Given the description of an element on the screen output the (x, y) to click on. 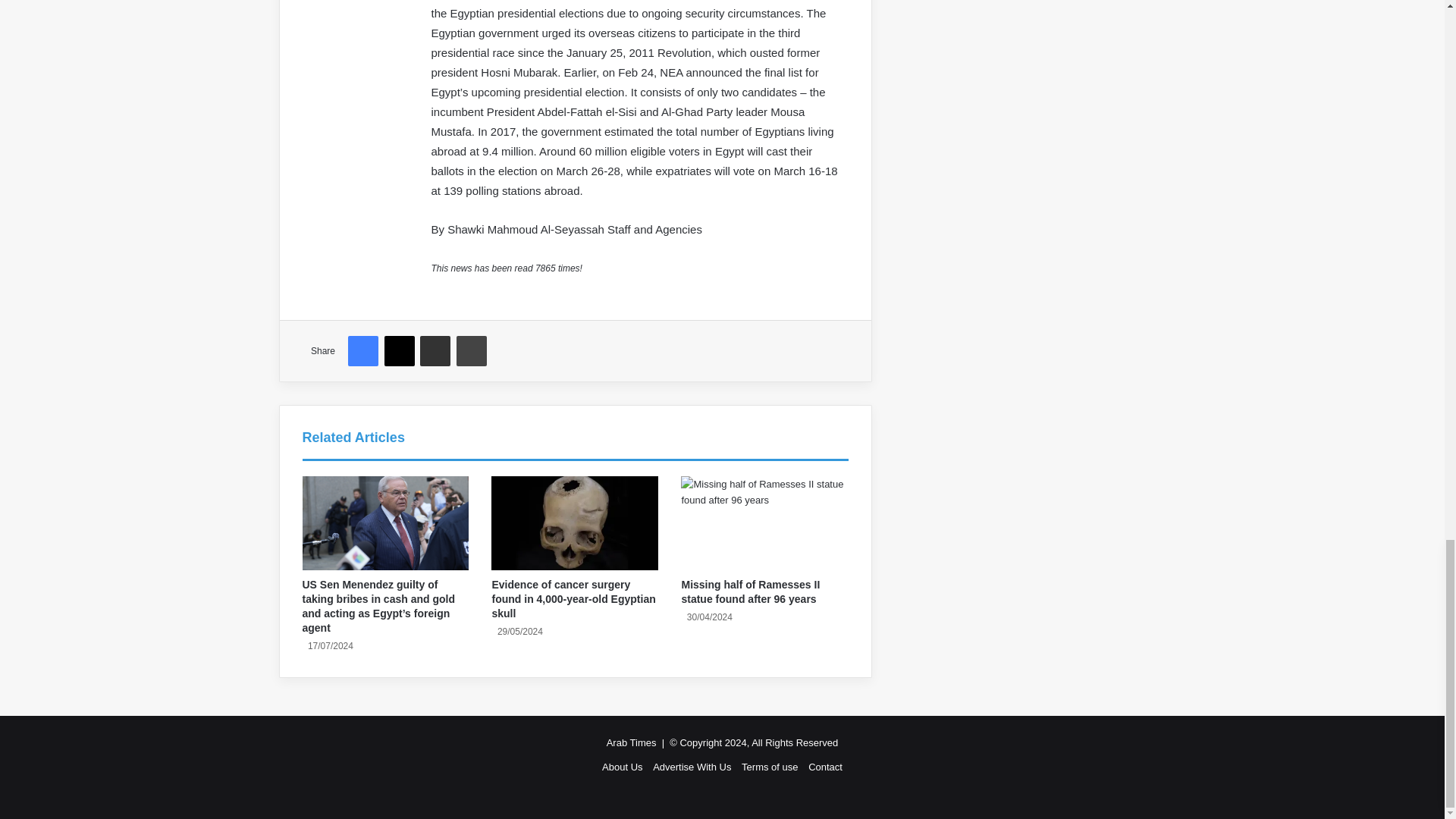
X (399, 350)
Facebook (362, 350)
Print (471, 350)
Missing half of Ramesses II statue found after 96 years (764, 522)
Share via Email (434, 350)
Facebook (362, 350)
